Given the description of an element on the screen output the (x, y) to click on. 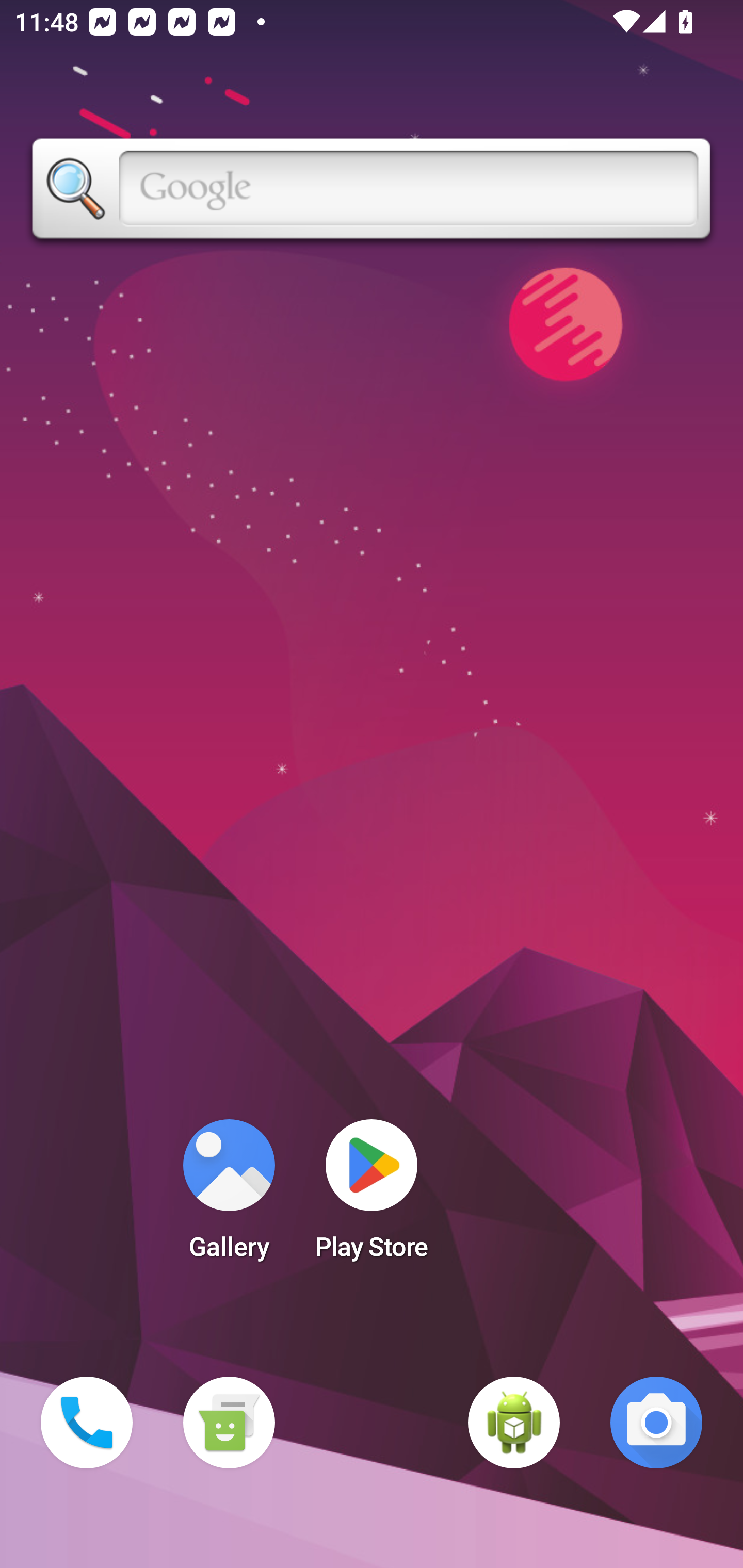
Gallery (228, 1195)
Play Store (371, 1195)
Phone (86, 1422)
Messaging (228, 1422)
WebView Browser Tester (513, 1422)
Camera (656, 1422)
